Given the description of an element on the screen output the (x, y) to click on. 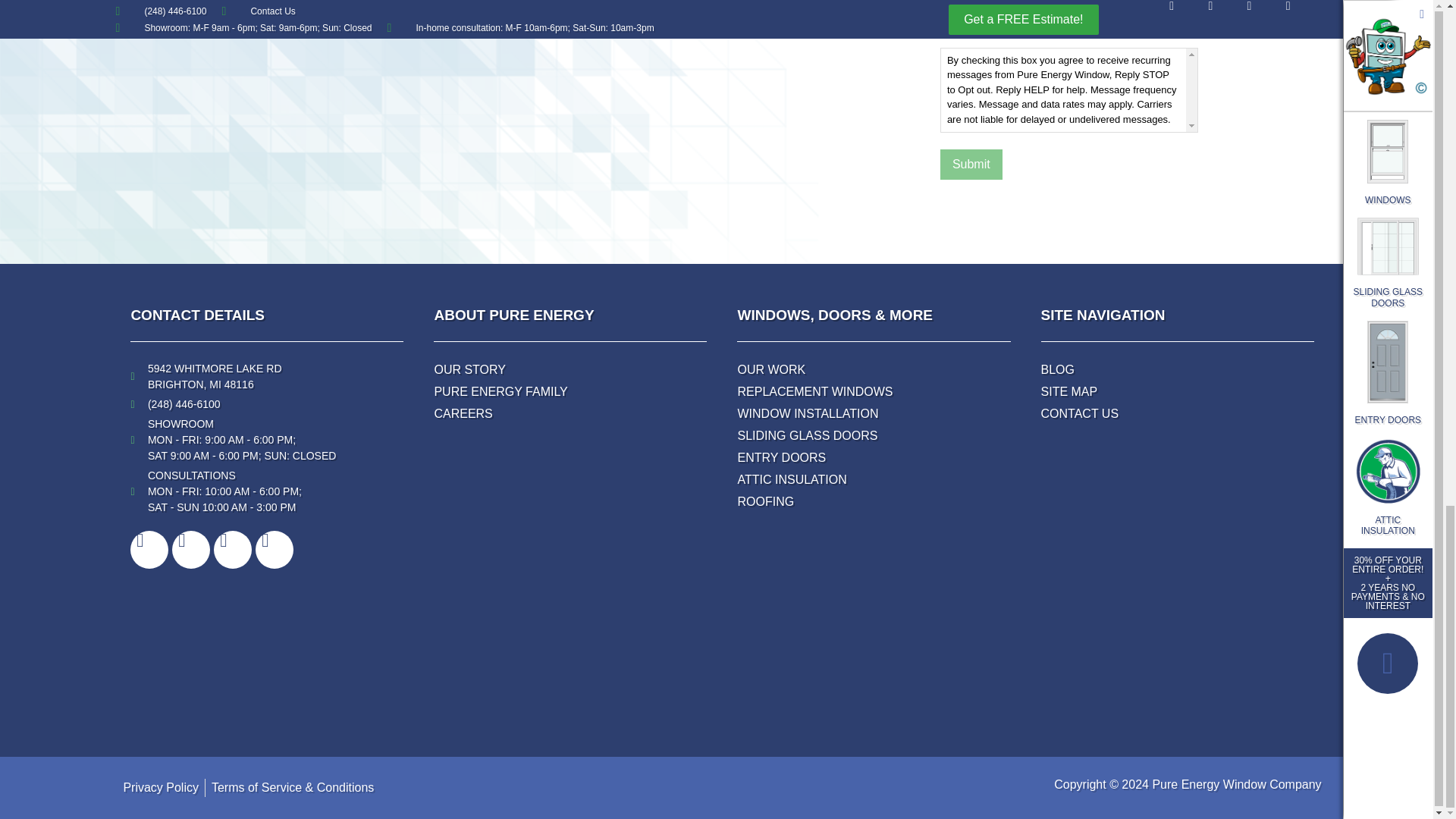
1 (945, 4)
Submit (971, 164)
